Given the description of an element on the screen output the (x, y) to click on. 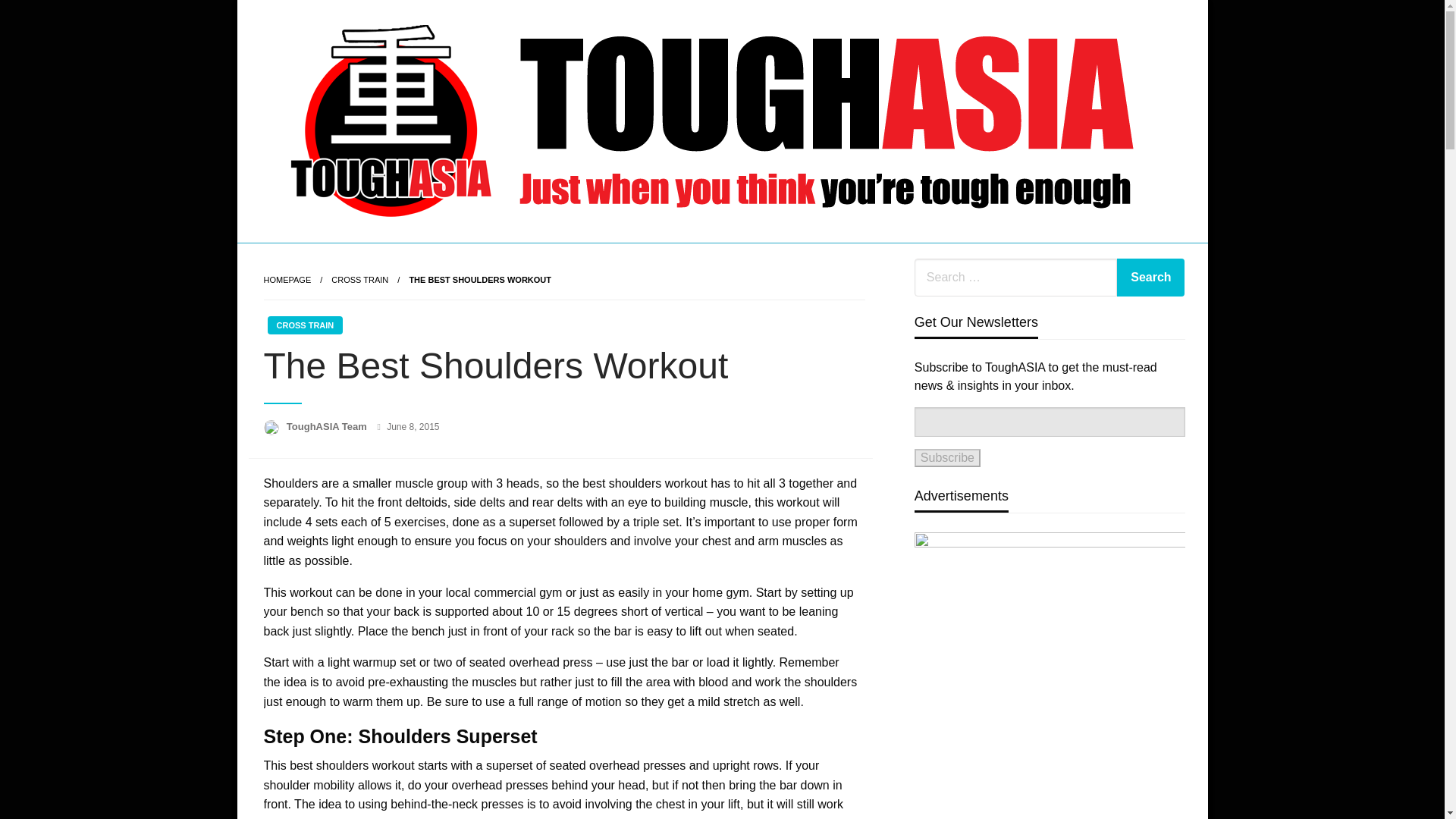
Homepage (287, 279)
Cross Train (359, 279)
The Best Shoulders Workout (480, 279)
ToughASIA (331, 262)
Search (1150, 277)
Subscribe (946, 457)
ToughASIA Team (327, 426)
Search (1150, 277)
